Given the description of an element on the screen output the (x, y) to click on. 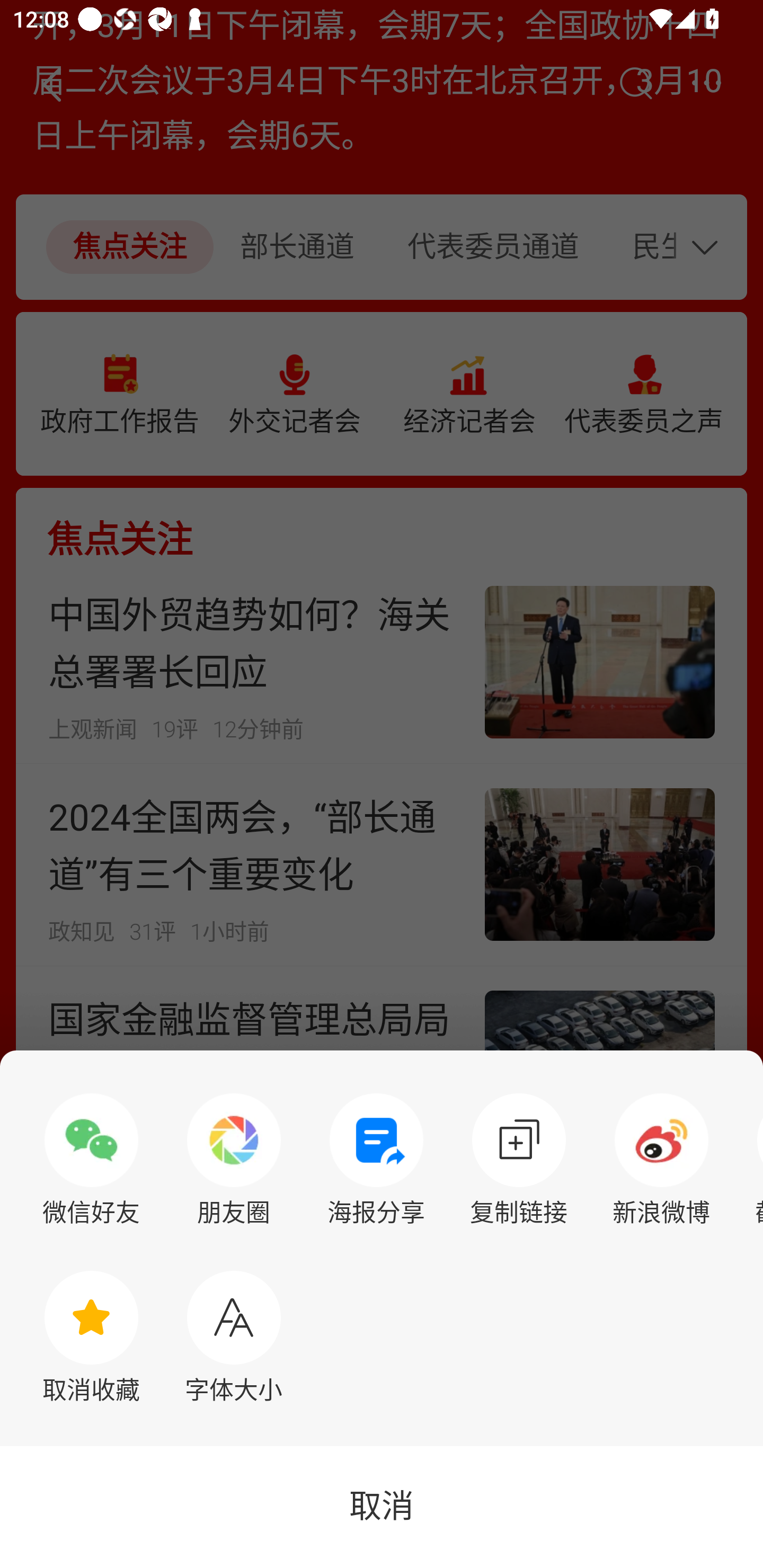
微信好友 (90, 1159)
朋友圈 (233, 1159)
海报分享 (376, 1159)
 复制链接 复制链接 (518, 1159)
新浪微博 (661, 1159)
 取消收藏 取消收藏 (90, 1337)
 字体大小 字体大小 (233, 1337)
取消 (381, 1506)
